Given the description of an element on the screen output the (x, y) to click on. 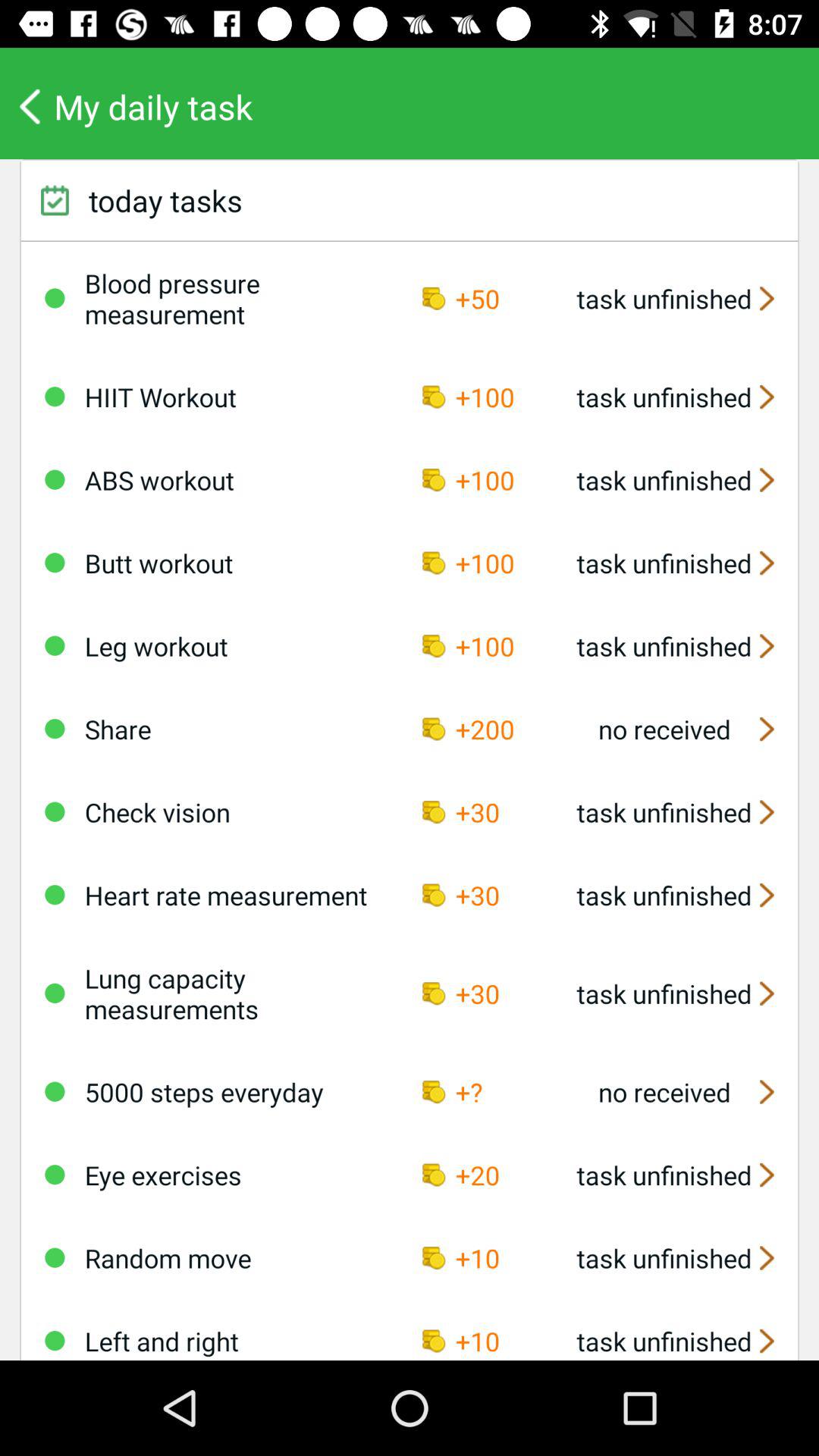
select task (54, 396)
